Given the description of an element on the screen output the (x, y) to click on. 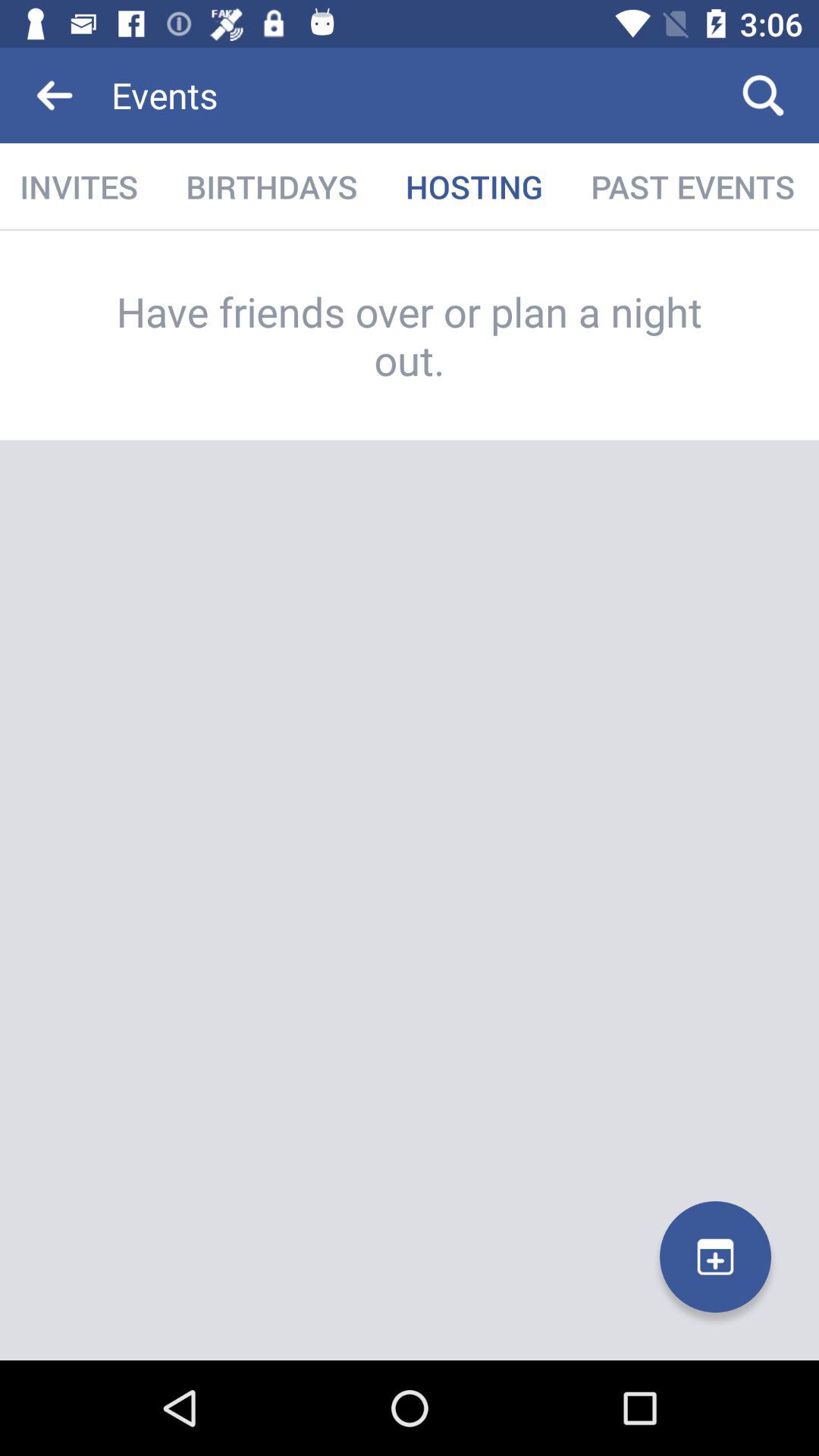
select the icon next to invites item (271, 186)
